Given the description of an element on the screen output the (x, y) to click on. 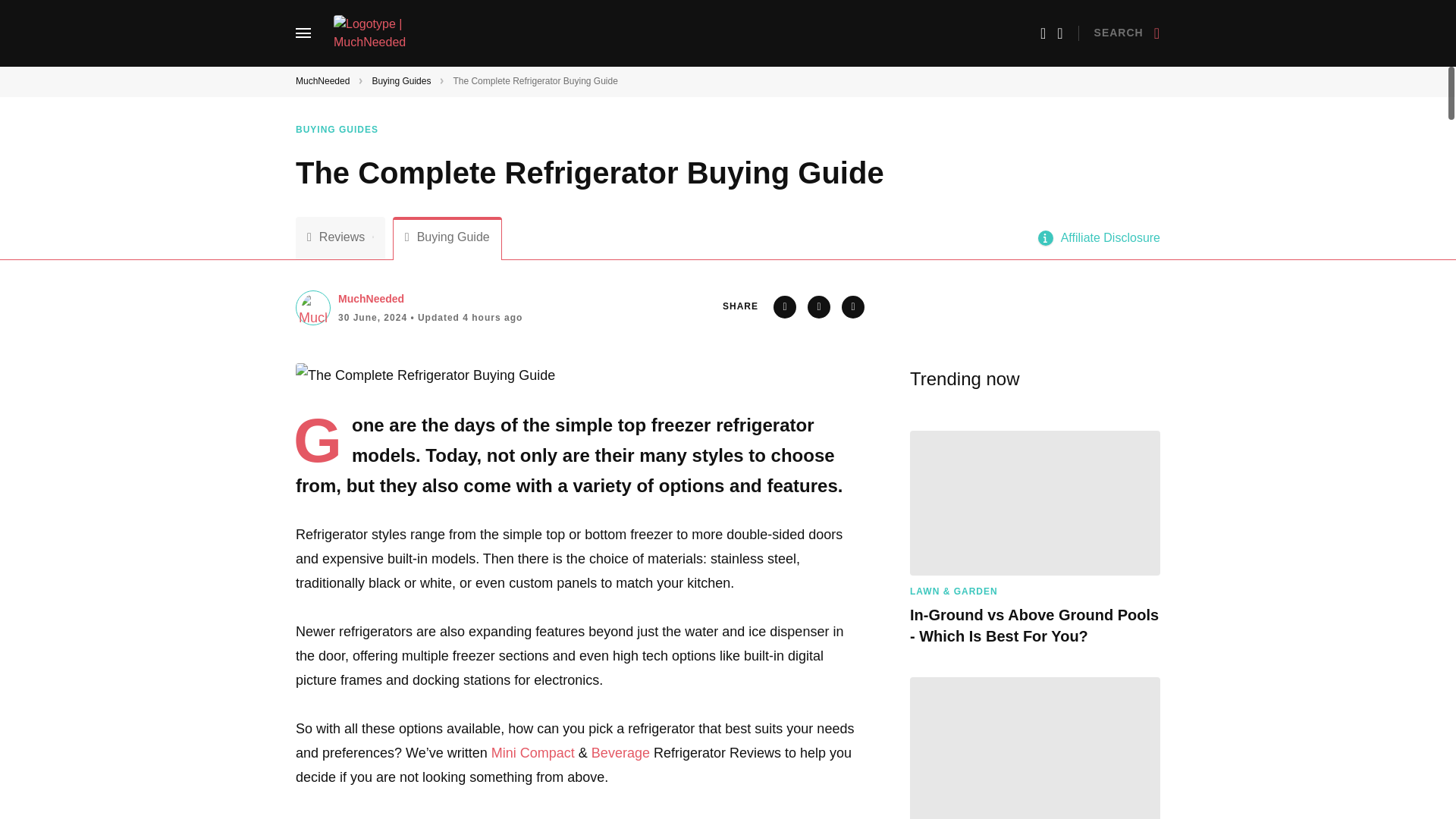
Buying Guides (345, 129)
In-Ground vs Above Ground Pools - Which Is Best For You? (1035, 502)
In-Ground vs Above Ground Pools - Which Is Best For You? (1035, 625)
MuchNeeded (322, 81)
SEARCH (1127, 33)
Buying Guides (400, 81)
